Given the description of an element on the screen output the (x, y) to click on. 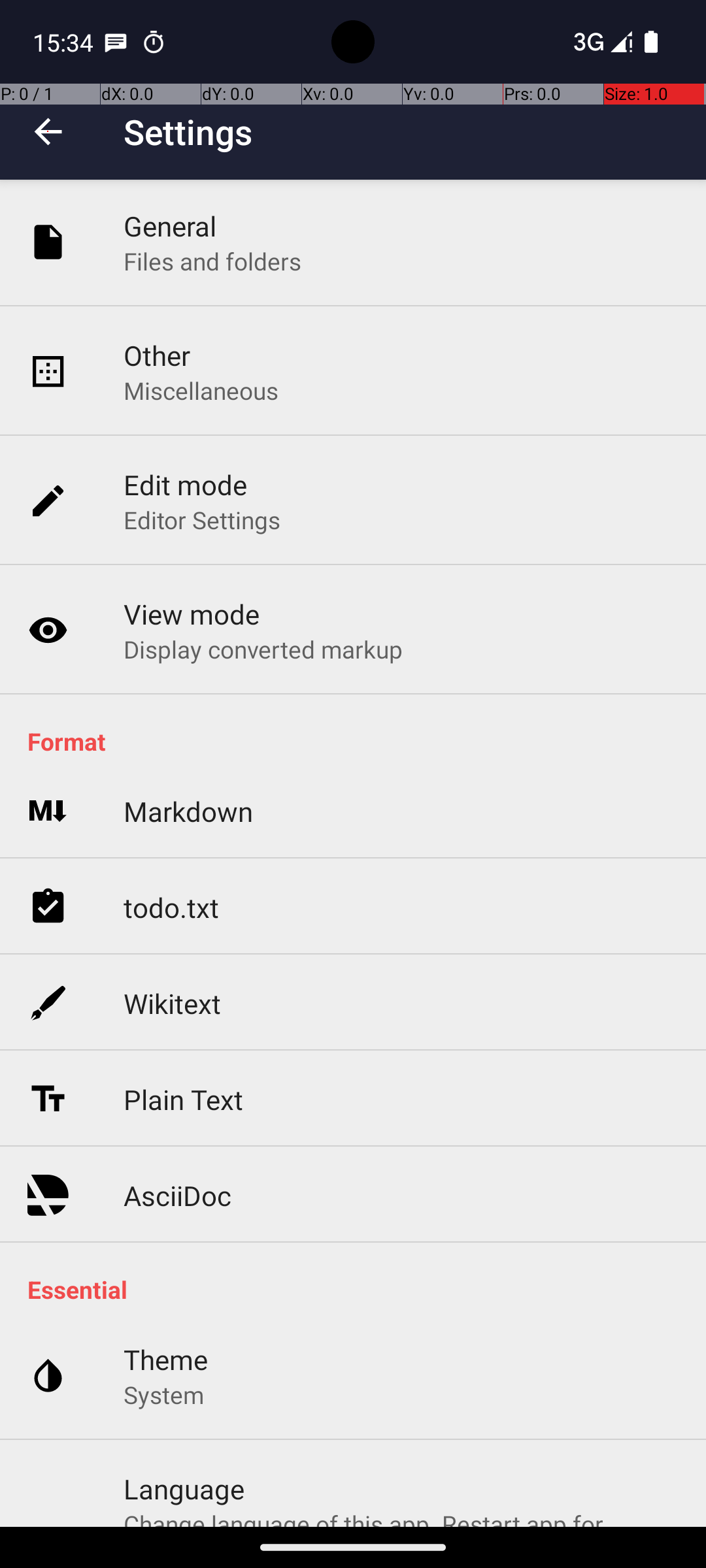
Essential Element type: android.widget.TextView (359, 1289)
Files and folders Element type: android.widget.TextView (212, 260)
Editor Settings Element type: android.widget.TextView (202, 519)
Display converted markup Element type: android.widget.TextView (263, 648)
Change language of this app. Restart app for changes to take effect

English (English, United States) Element type: android.widget.TextView (400, 1516)
